Given the description of an element on the screen output the (x, y) to click on. 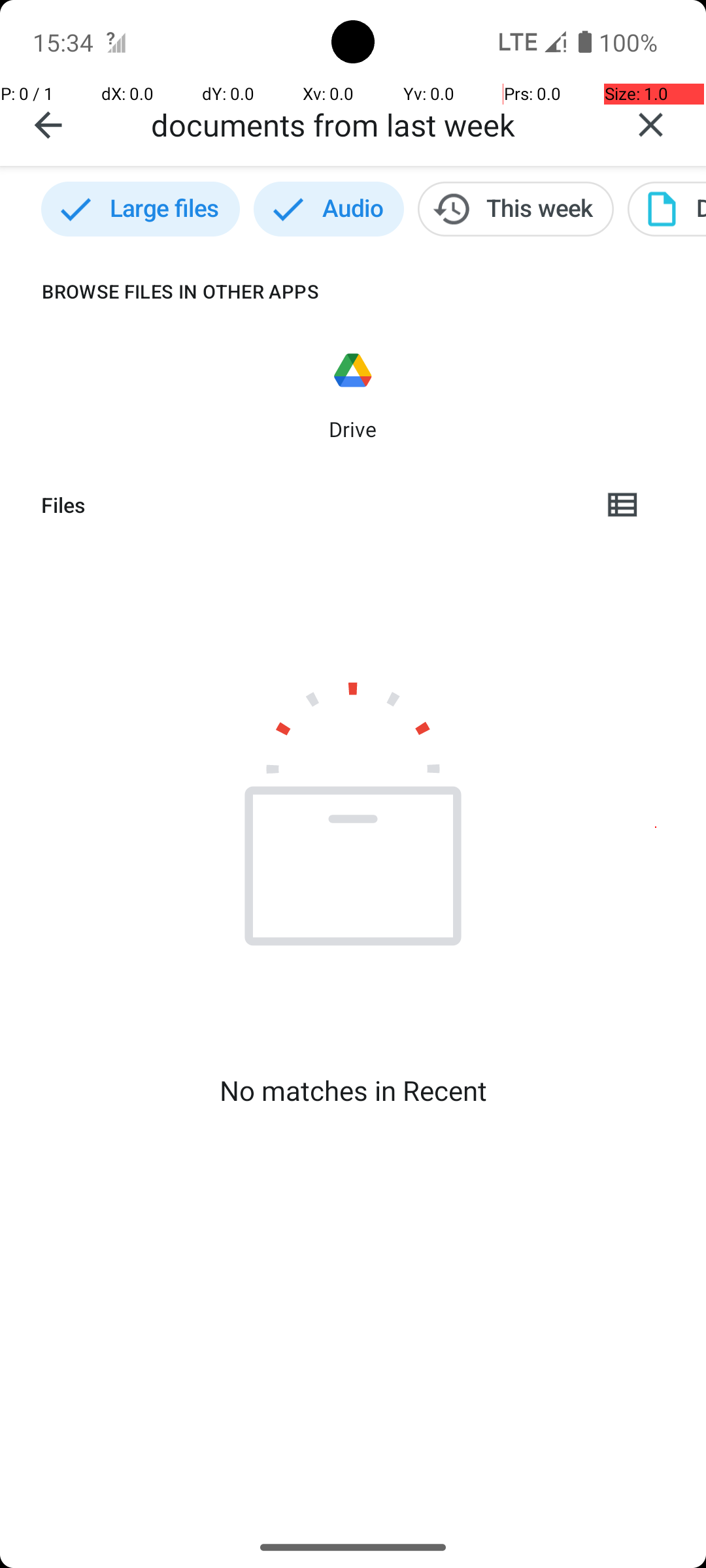
documents from last week Element type: android.widget.AutoCompleteTextView (373, 124)
